Given the description of an element on the screen output the (x, y) to click on. 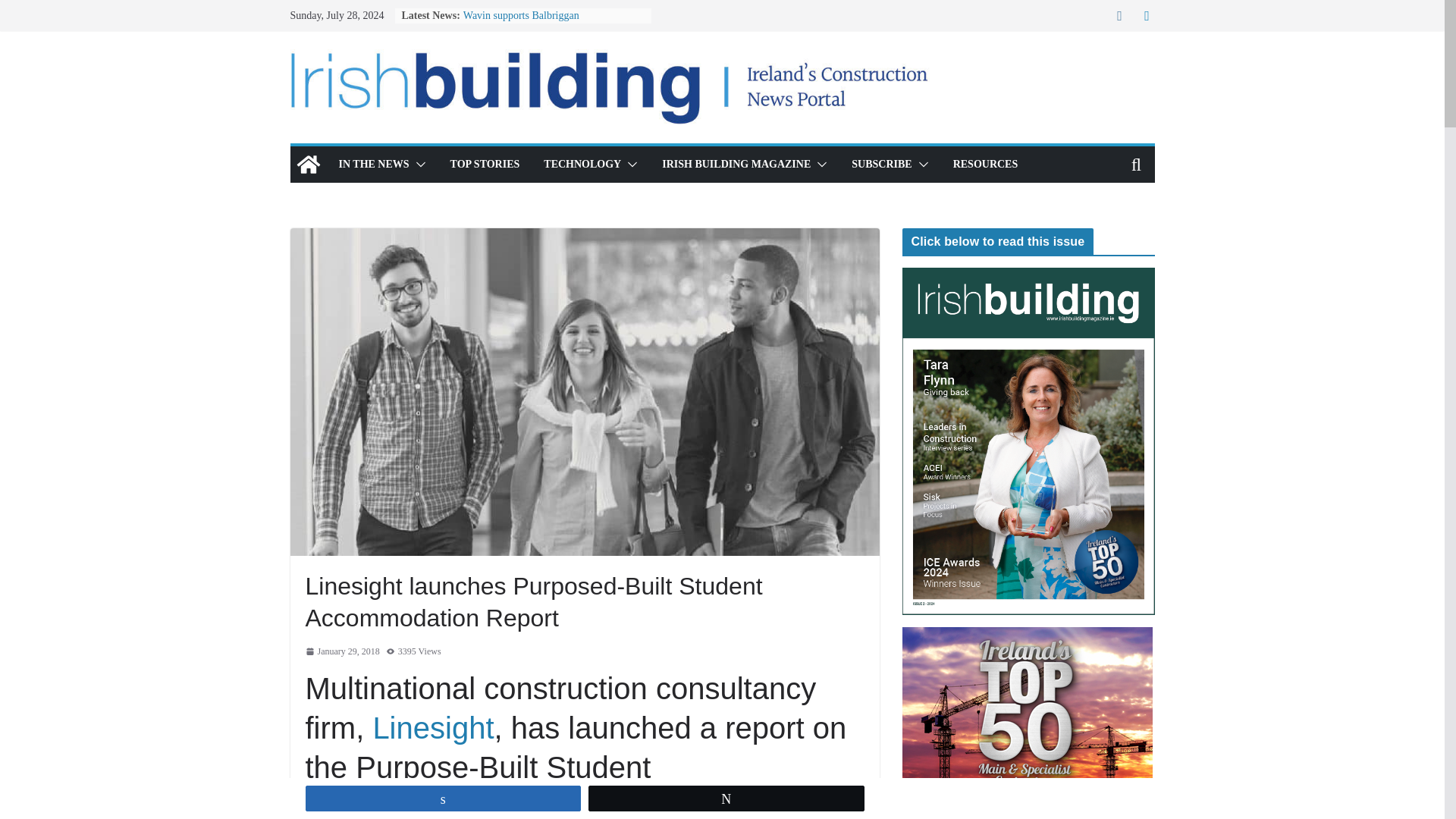
TOP STORIES (484, 164)
Linesight (432, 727)
TECHNOLOGY (582, 164)
IRISH BUILDING MAGAZINE (736, 164)
January 29, 2018 (341, 651)
6:24 am (341, 651)
SUBSCRIBE (881, 164)
IN THE NEWS (373, 164)
Irish building magazine (307, 164)
RESOURCES (985, 164)
